Given the description of an element on the screen output the (x, y) to click on. 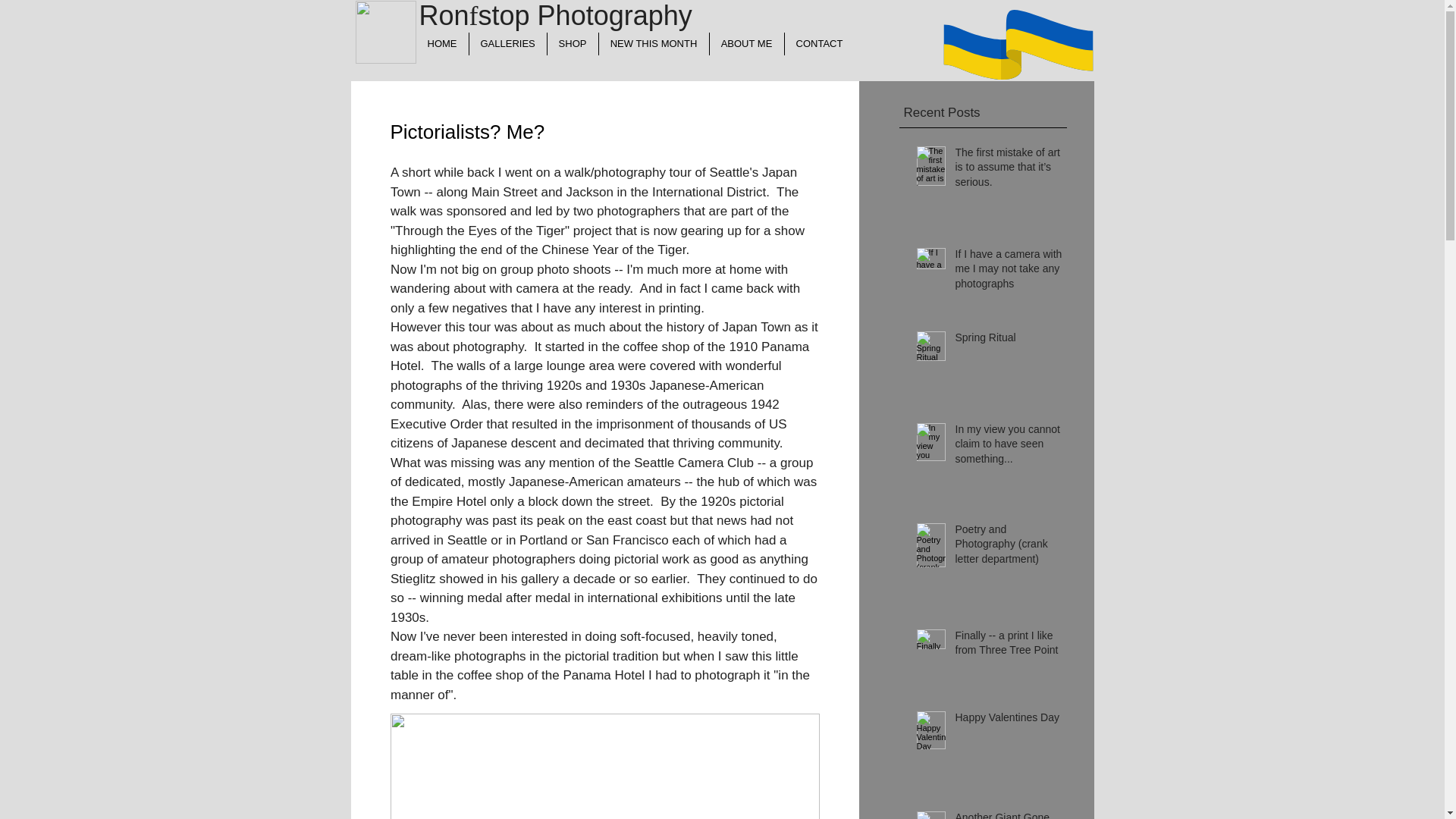
In my view you cannot claim to have seen something... (1009, 447)
ABOUT ME (745, 43)
Spring Ritual (1009, 341)
Happy Valentines Day (1009, 721)
Finally -- a print I like from Three Tree Point (1009, 646)
NEW THIS MONTH (651, 43)
HOME (440, 43)
GALLERIES (507, 43)
Another Giant Gone (1009, 814)
If I have a camera with me I may not take any photographs (1009, 272)
